Given the description of an element on the screen output the (x, y) to click on. 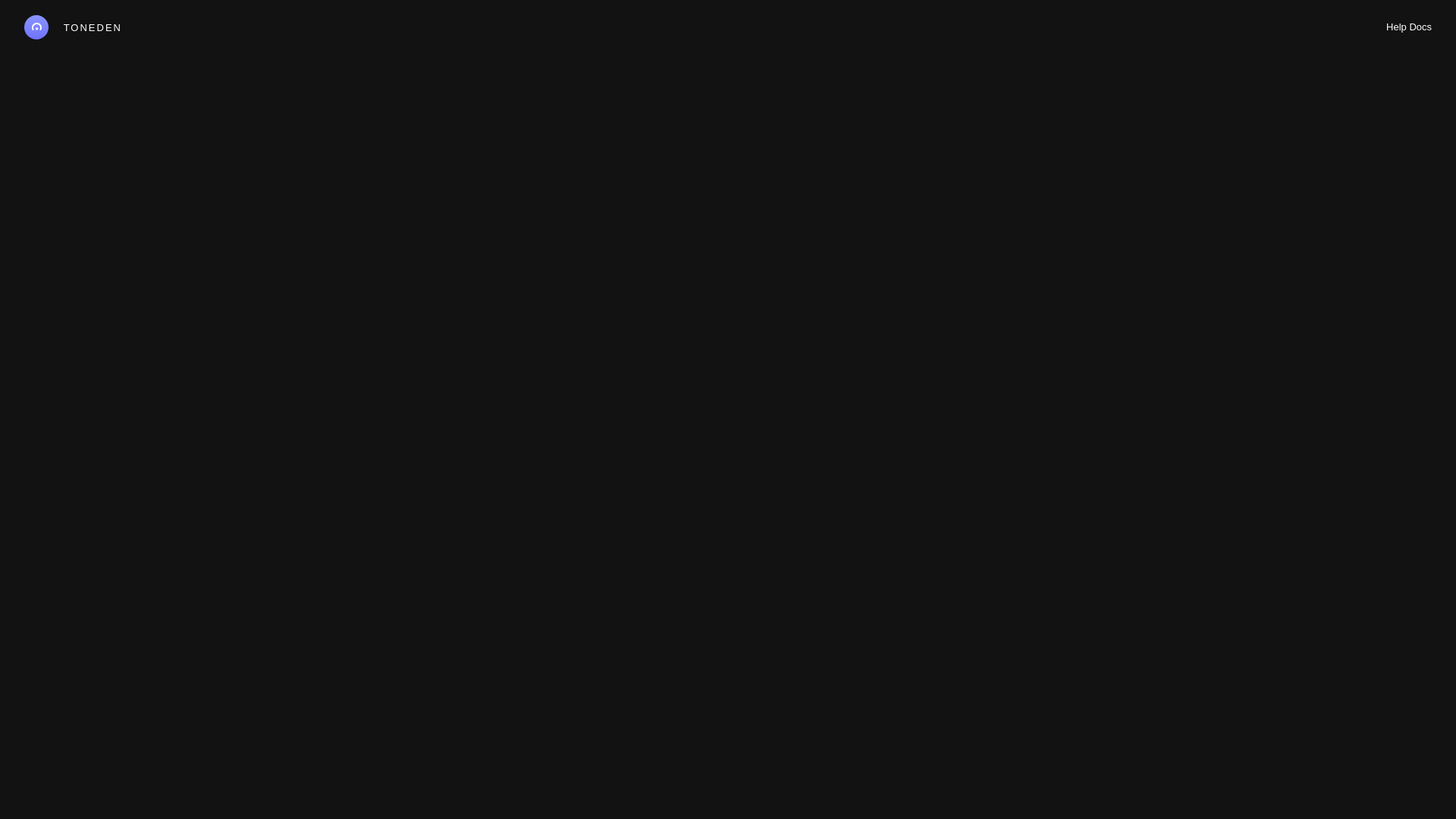
Help Docs Element type: text (1408, 26)
TONEDEN Element type: text (73, 26)
